Given the description of an element on the screen output the (x, y) to click on. 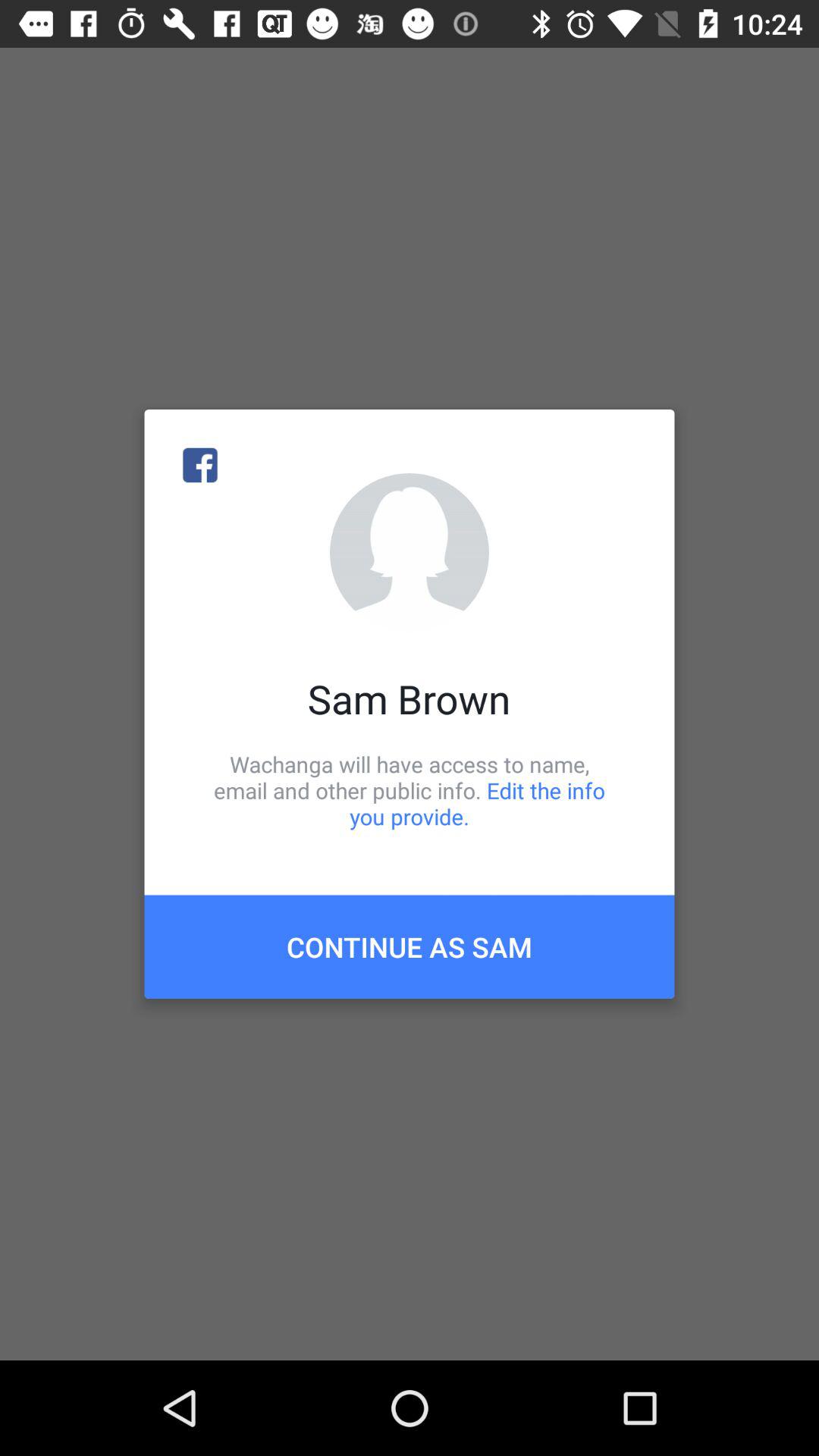
turn on the icon below wachanga will have item (409, 946)
